Given the description of an element on the screen output the (x, y) to click on. 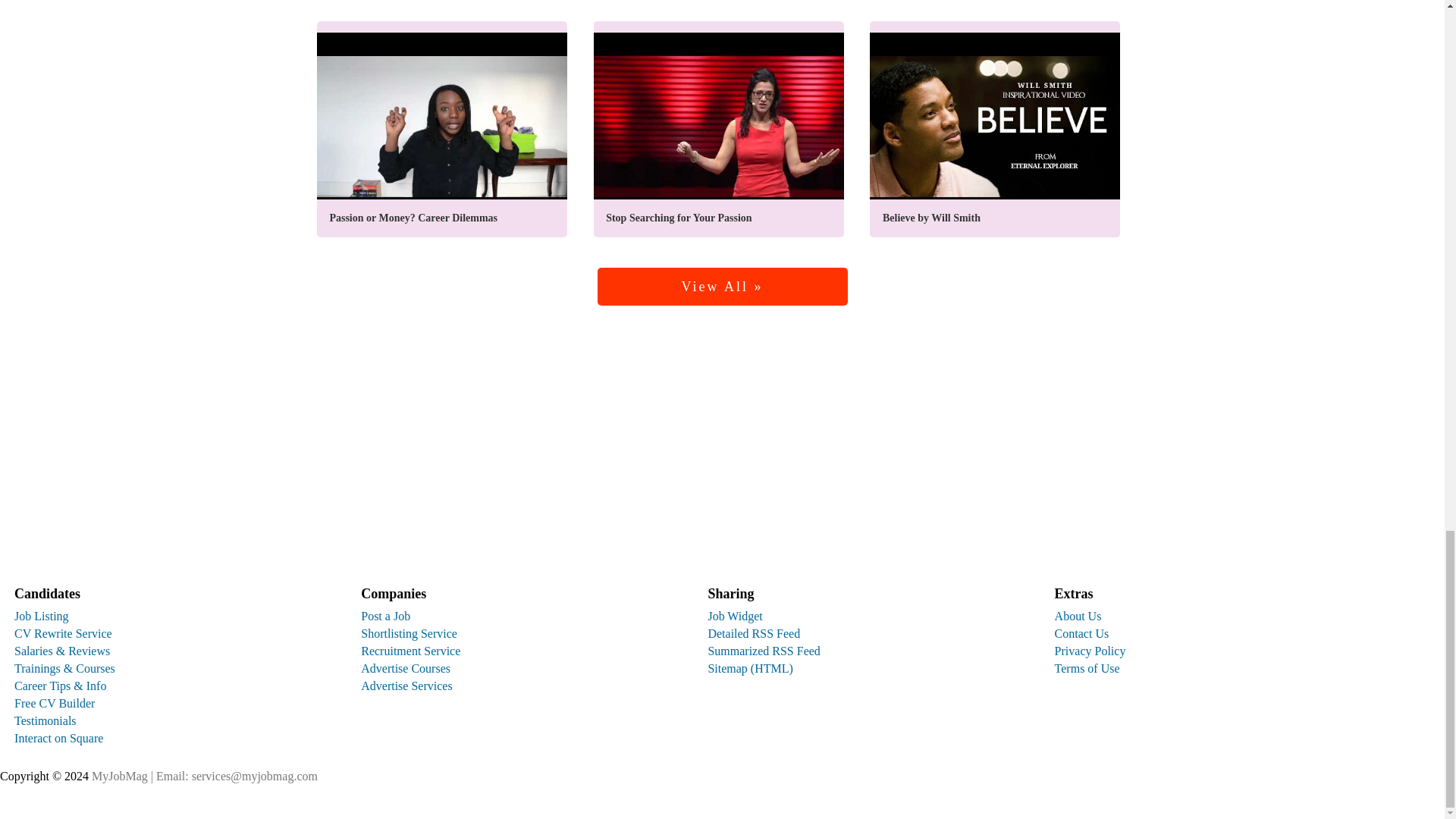
Stop Searching for Your Passion (719, 129)
Job Listing (41, 615)
CV Rewrite Service (63, 633)
Believe by Will Smith (994, 129)
Passion or Money? Career Dilemmas (442, 129)
